Given the description of an element on the screen output the (x, y) to click on. 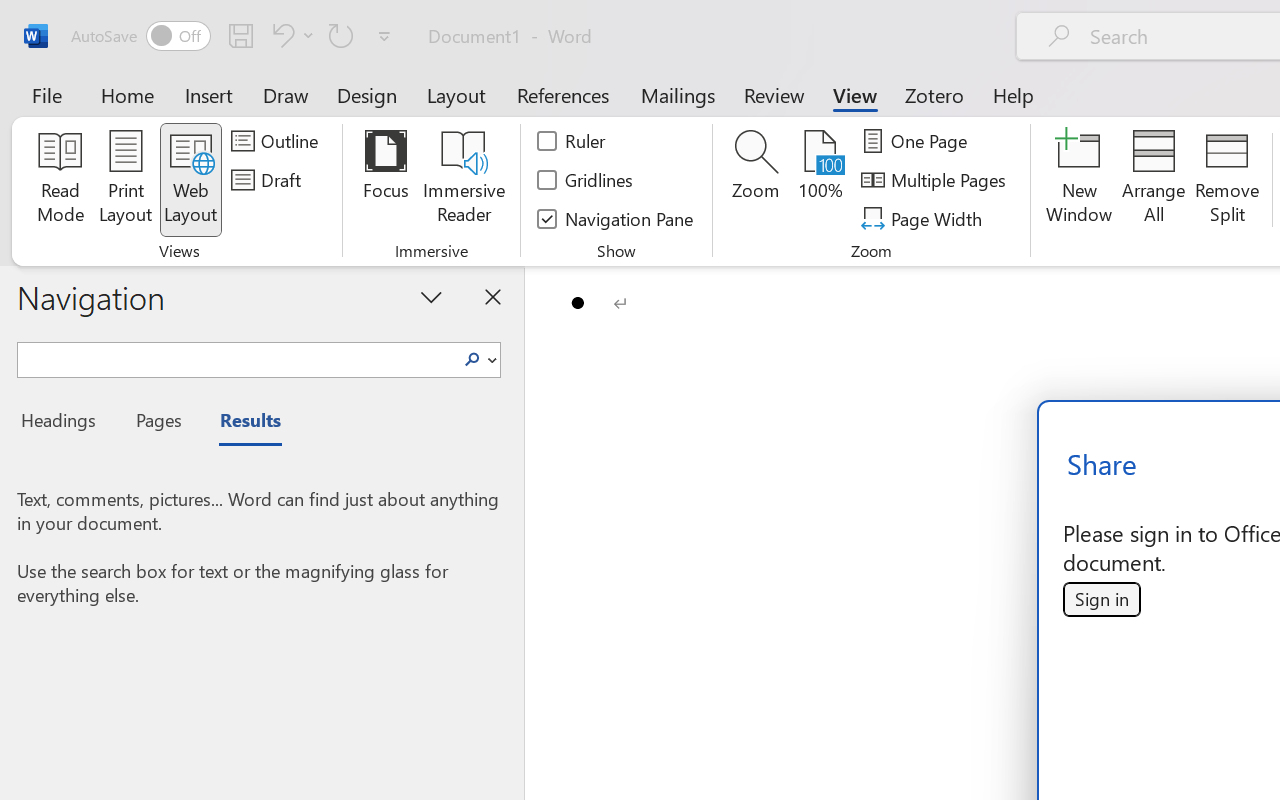
Multiple Pages (936, 179)
Page Width (924, 218)
